Given the description of an element on the screen output the (x, y) to click on. 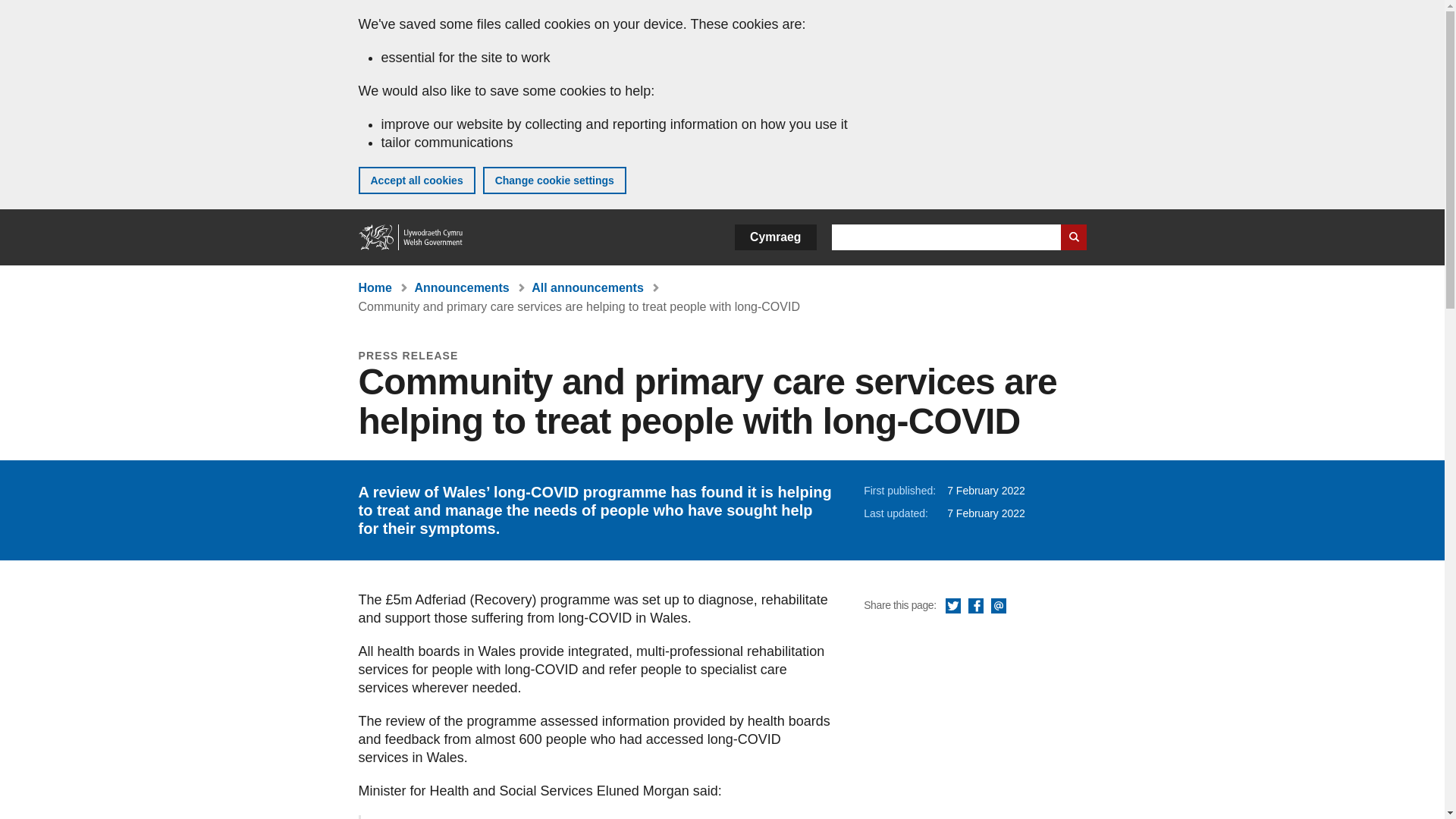
Home (374, 287)
Search website (1072, 237)
Home (411, 237)
Skip to main content (22, 11)
Facebook (976, 606)
Twitter (952, 606)
Search website (1072, 237)
Welsh Government (411, 237)
All announcements (587, 287)
Cymraeg (775, 237)
Accept all cookies (416, 180)
Email (998, 606)
Change cookie settings (554, 180)
Announcements (460, 287)
